Given the description of an element on the screen output the (x, y) to click on. 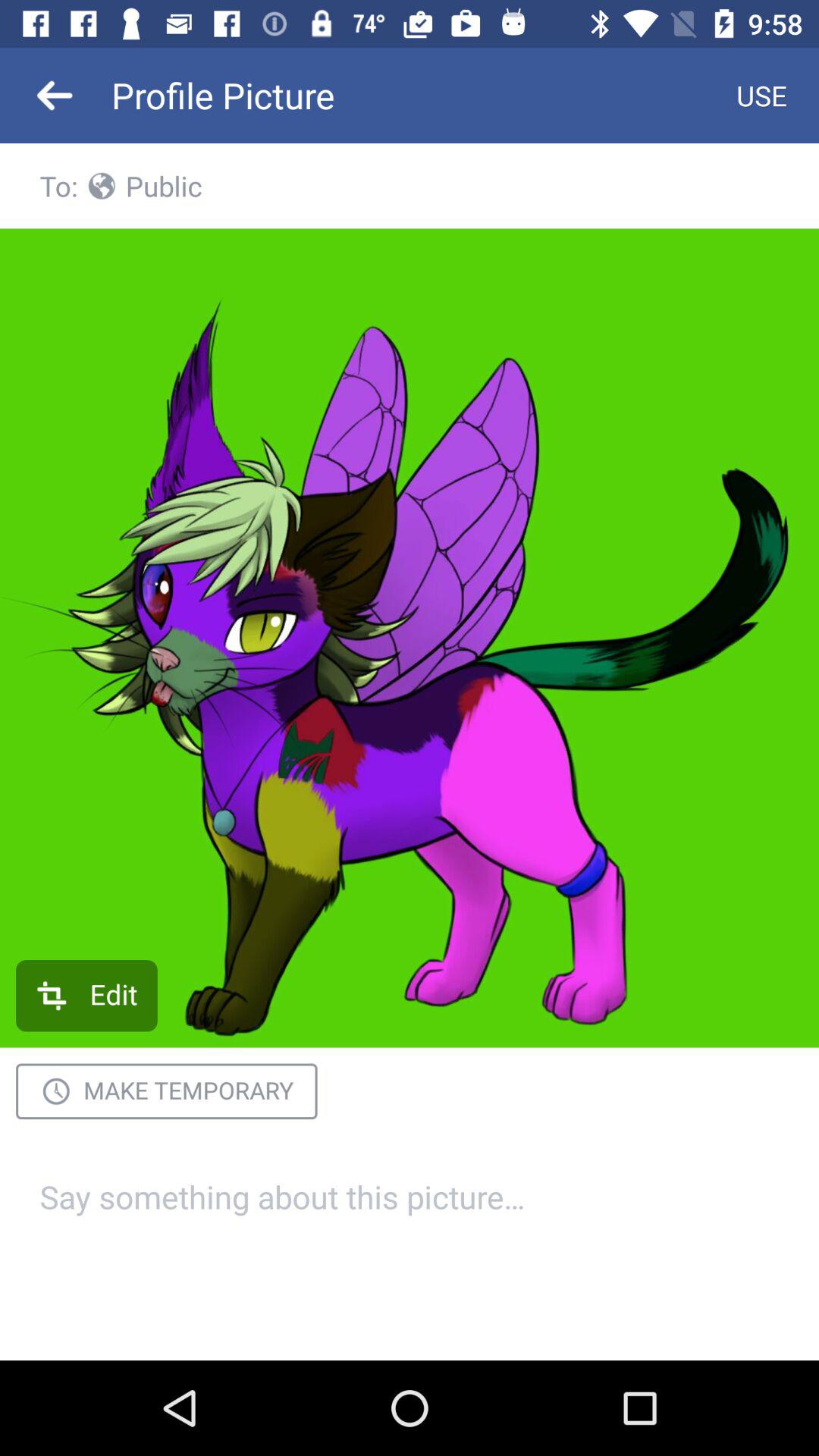
launch item to the right of profile picture item (761, 95)
